Given the description of an element on the screen output the (x, y) to click on. 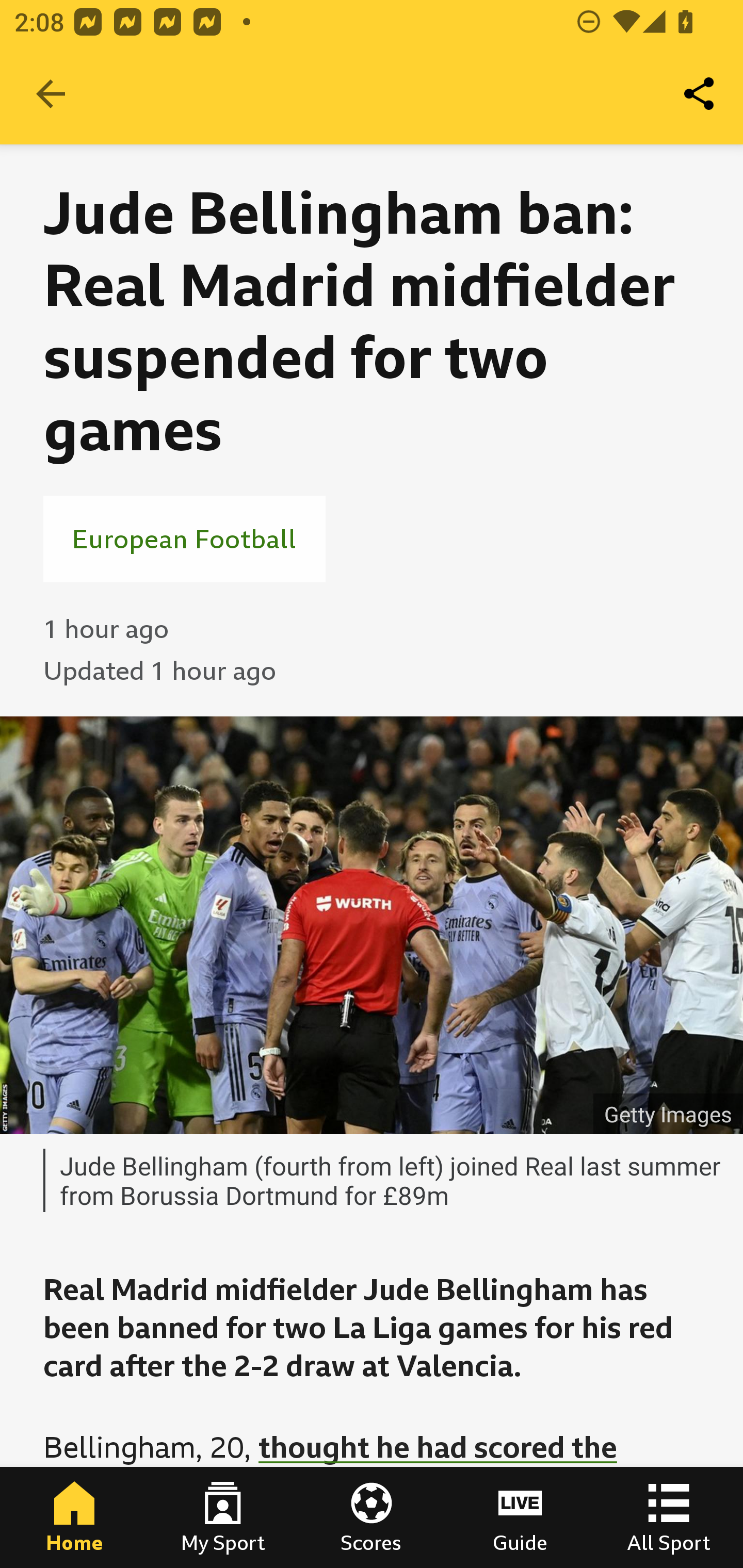
Navigate up (50, 93)
Share (699, 93)
European Football (184, 538)
My Sport (222, 1517)
Scores (371, 1517)
Guide (519, 1517)
All Sport (668, 1517)
